Given the description of an element on the screen output the (x, y) to click on. 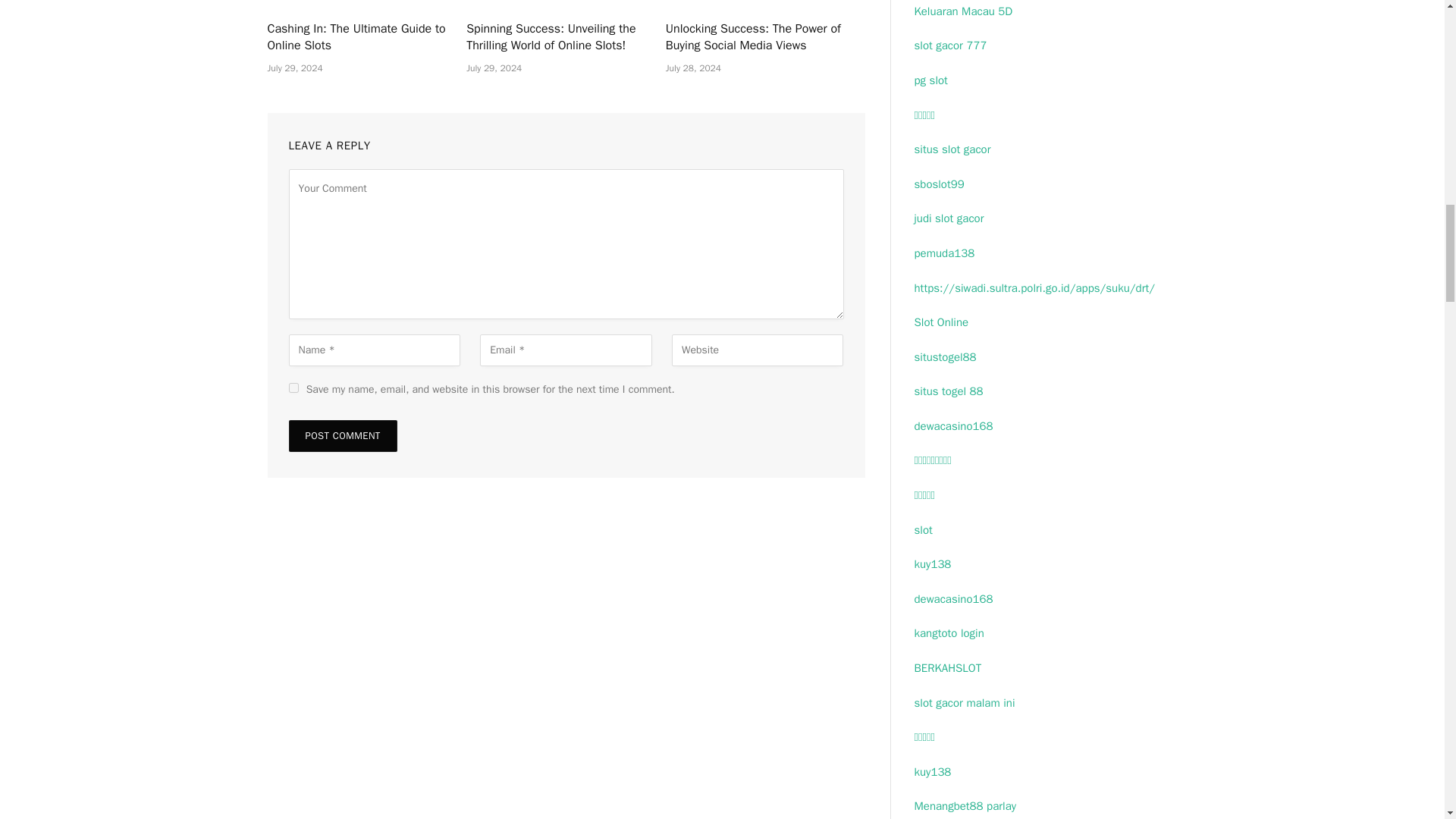
Unlocking Success: The Power of Buying Social Media Views (764, 37)
Post Comment (342, 436)
Cashing In: The Ultimate Guide to Online Slots (365, 37)
yes (293, 388)
Post Comment (342, 436)
